Given the description of an element on the screen output the (x, y) to click on. 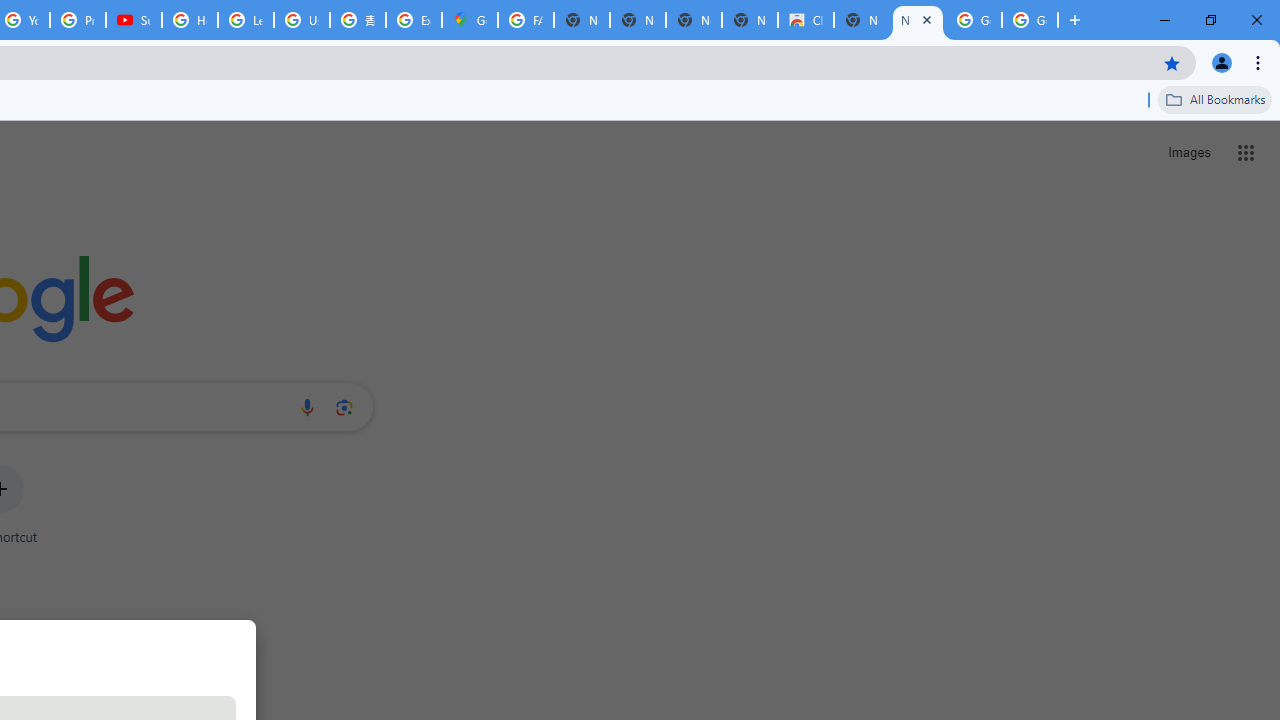
New Tab (917, 20)
Google Maps (469, 20)
